Given the description of an element on the screen output the (x, y) to click on. 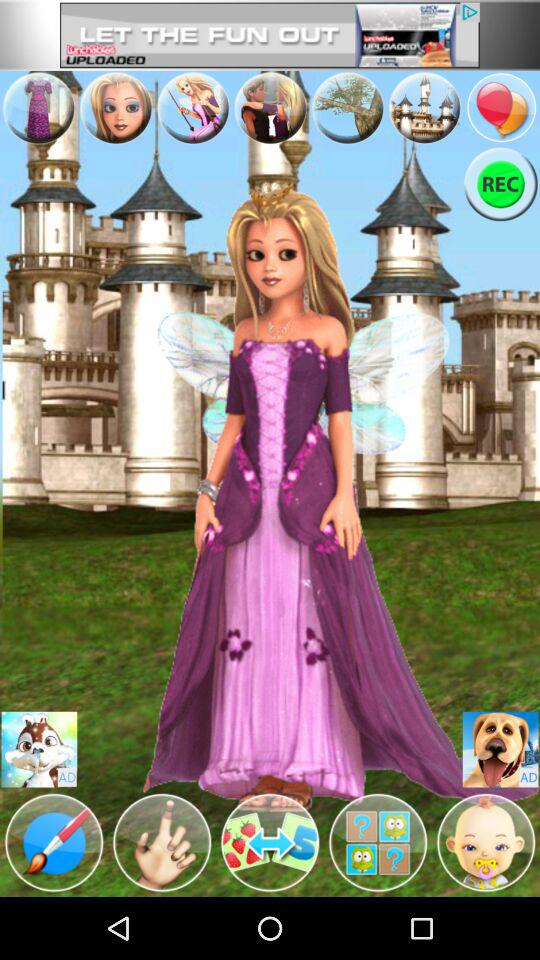
advertisement (347, 107)
